Given the description of an element on the screen output the (x, y) to click on. 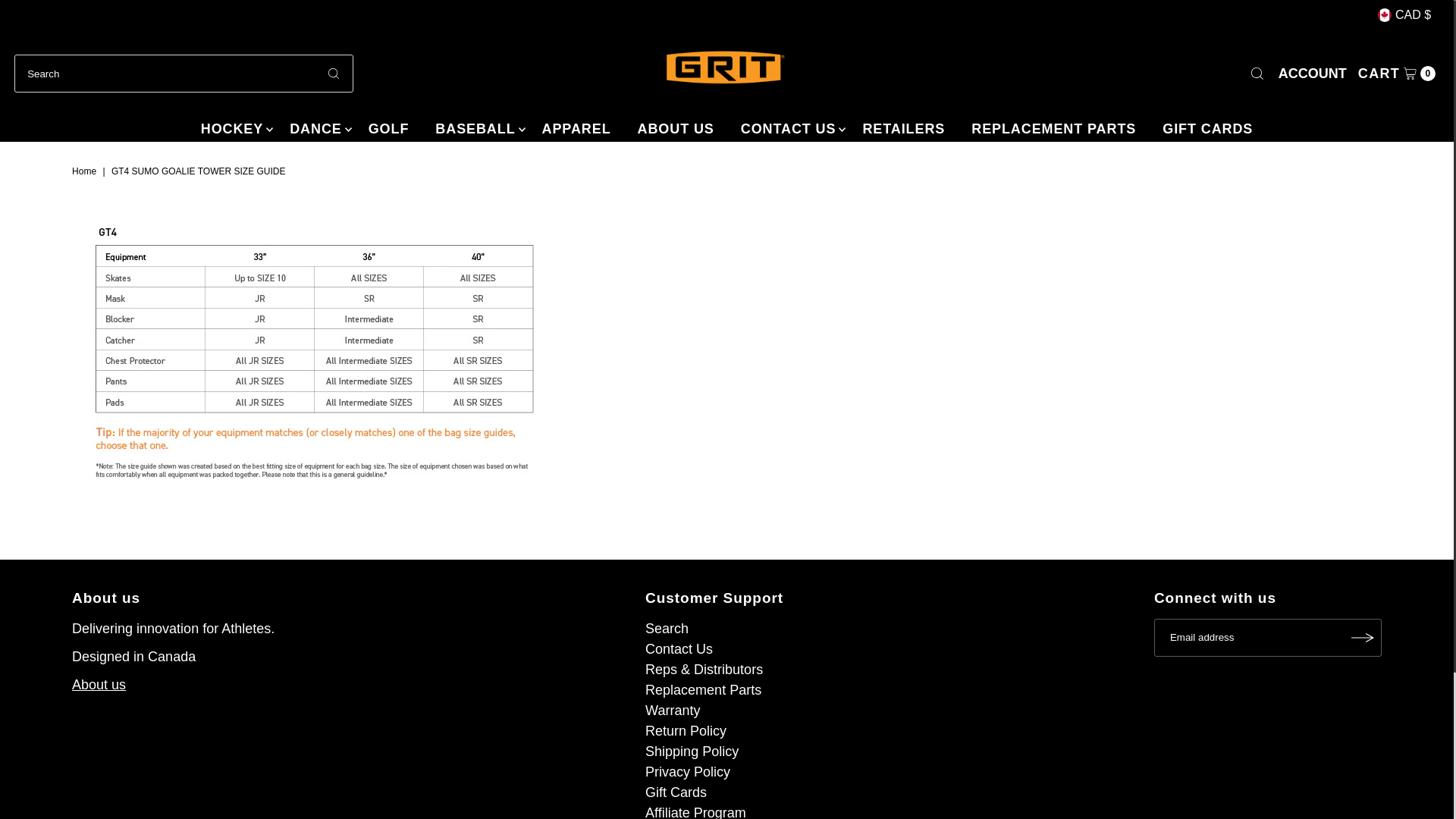
Home (85, 171)
About Us (98, 684)
Skip to content (67, 18)
